Given the description of an element on the screen output the (x, y) to click on. 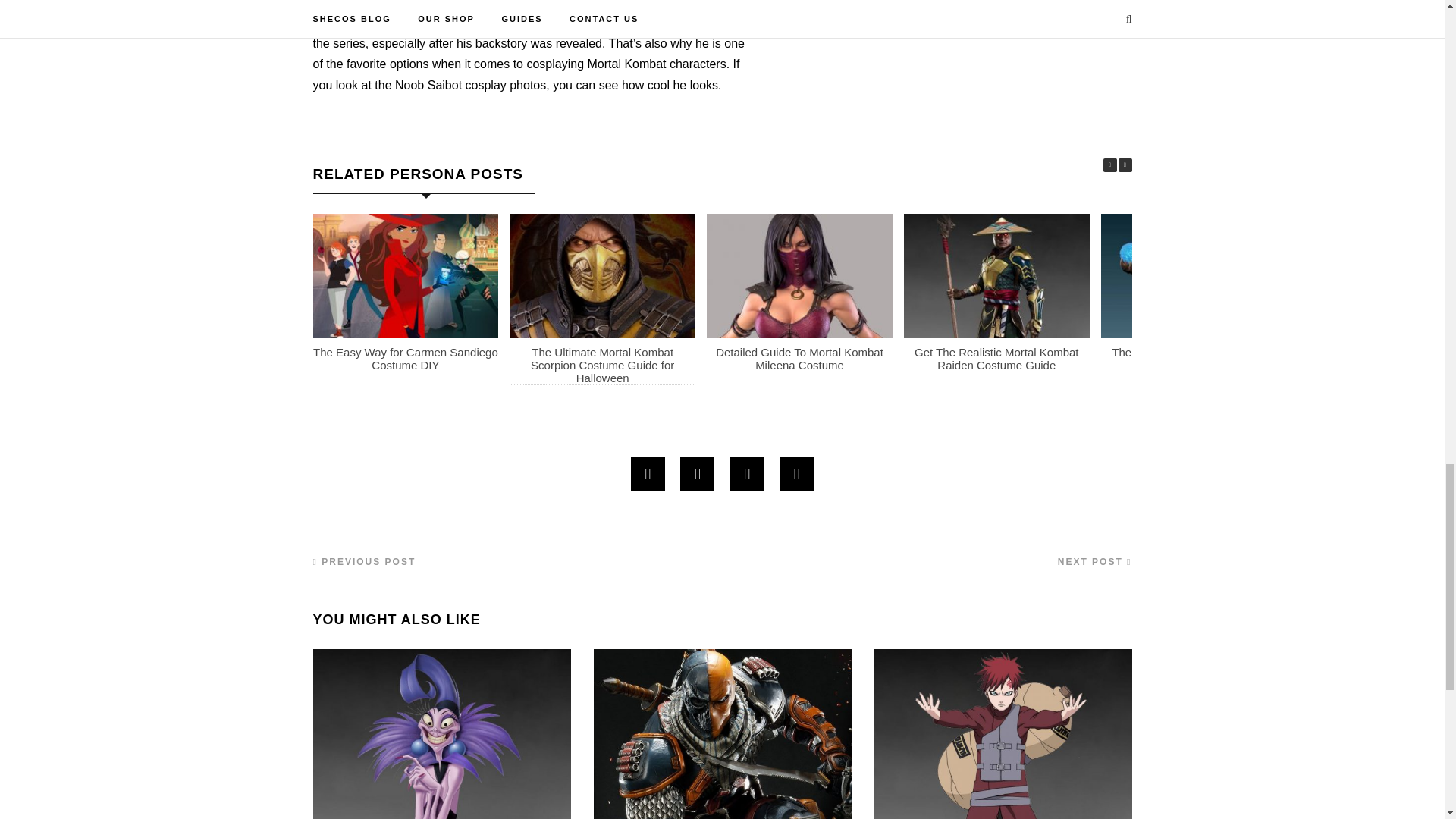
The Easy Way for Carmen Sandiego Costume DIY (405, 358)
Previous (1109, 164)
Detailed Guide To Mortal Kombat Mileena Costume (799, 358)
Get The Realistic Mortal Kombat Raiden Costume Guide (996, 358)
one of the popular characters (649, 22)
Next (1124, 164)
